Given the description of an element on the screen output the (x, y) to click on. 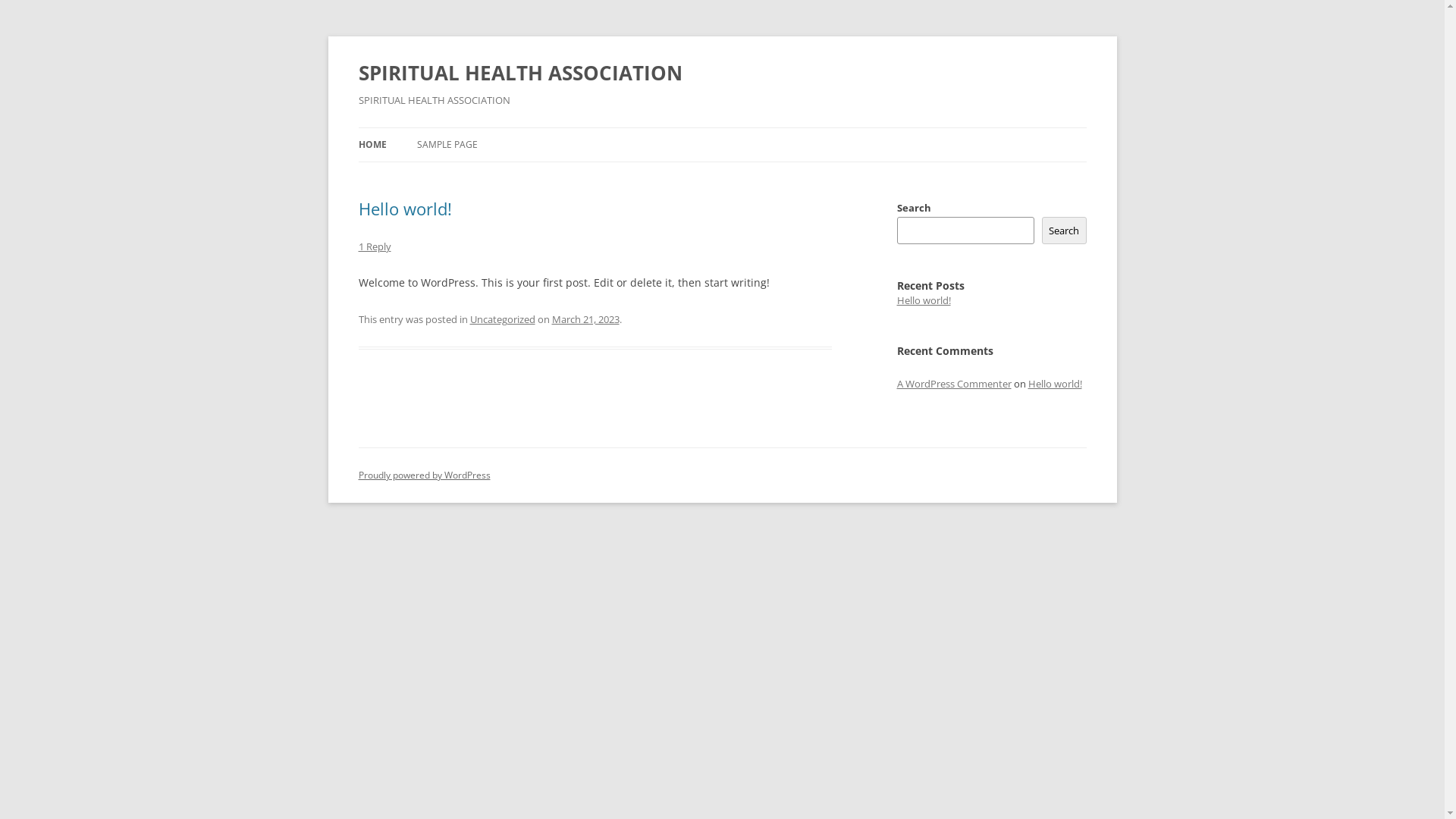
Uncategorized Element type: text (502, 319)
A WordPress Commenter Element type: text (953, 383)
Skip to content Element type: text (721, 127)
Search Element type: text (1063, 230)
Hello world! Element type: text (404, 208)
Hello world! Element type: text (923, 300)
HOME Element type: text (371, 144)
Hello world! Element type: text (1055, 383)
SAMPLE PAGE Element type: text (447, 144)
March 21, 2023 Element type: text (585, 319)
SPIRITUAL HEALTH ASSOCIATION Element type: text (519, 72)
Proudly powered by WordPress Element type: text (423, 474)
1 Reply Element type: text (373, 246)
